Given the description of an element on the screen output the (x, y) to click on. 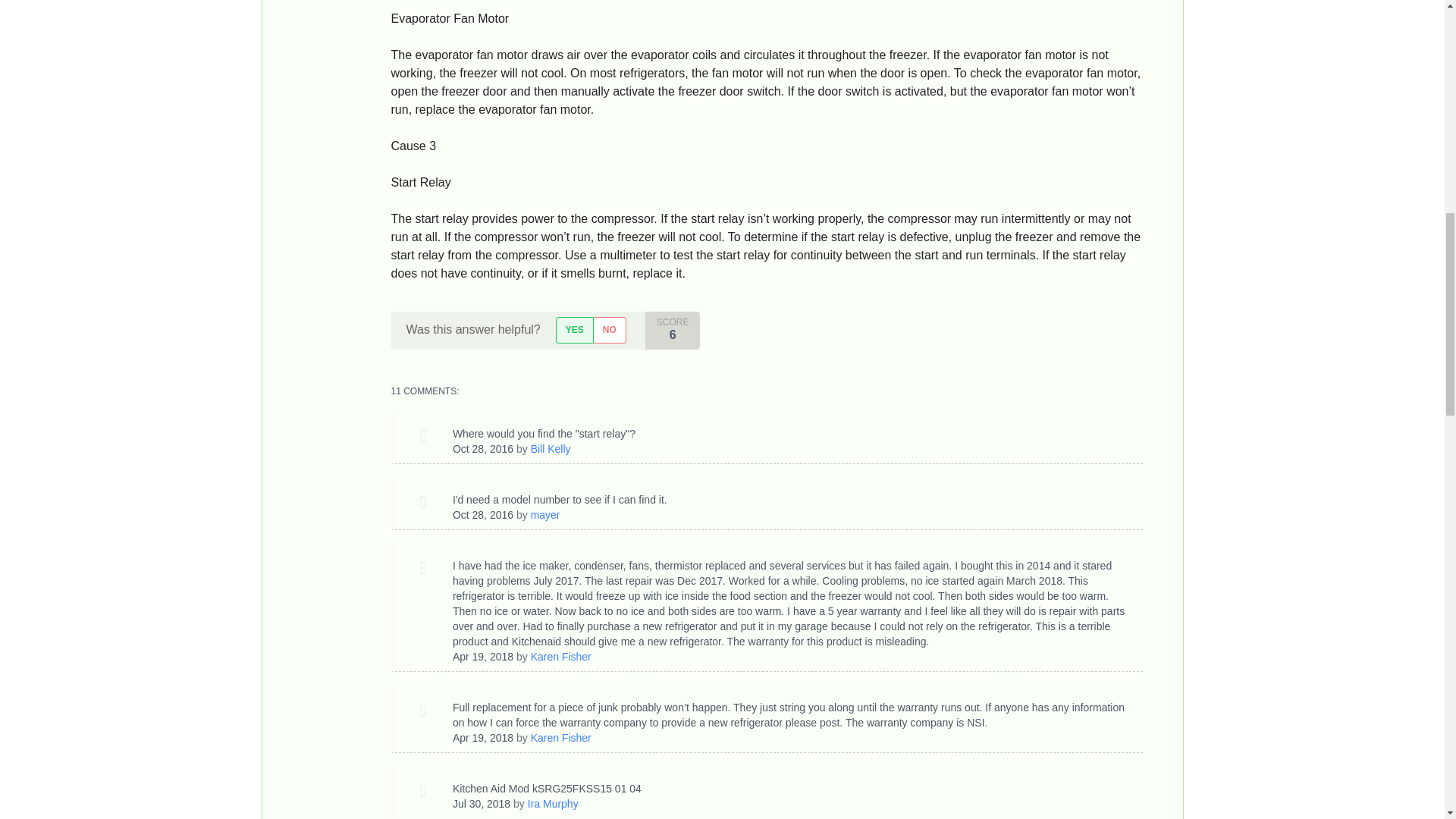
Thu, 19 Apr 2018 05:48:45 -0700 (482, 656)
Fri, 28 Oct 2016 12:47:28 -0700 (482, 449)
Thu, 19 Apr 2018 05:49:06 -0700 (482, 737)
Mon, 30 Jul 2018 11:06:33 -0700 (481, 803)
Fri, 28 Oct 2016 18:42:04 -0700 (482, 514)
